Given the description of an element on the screen output the (x, y) to click on. 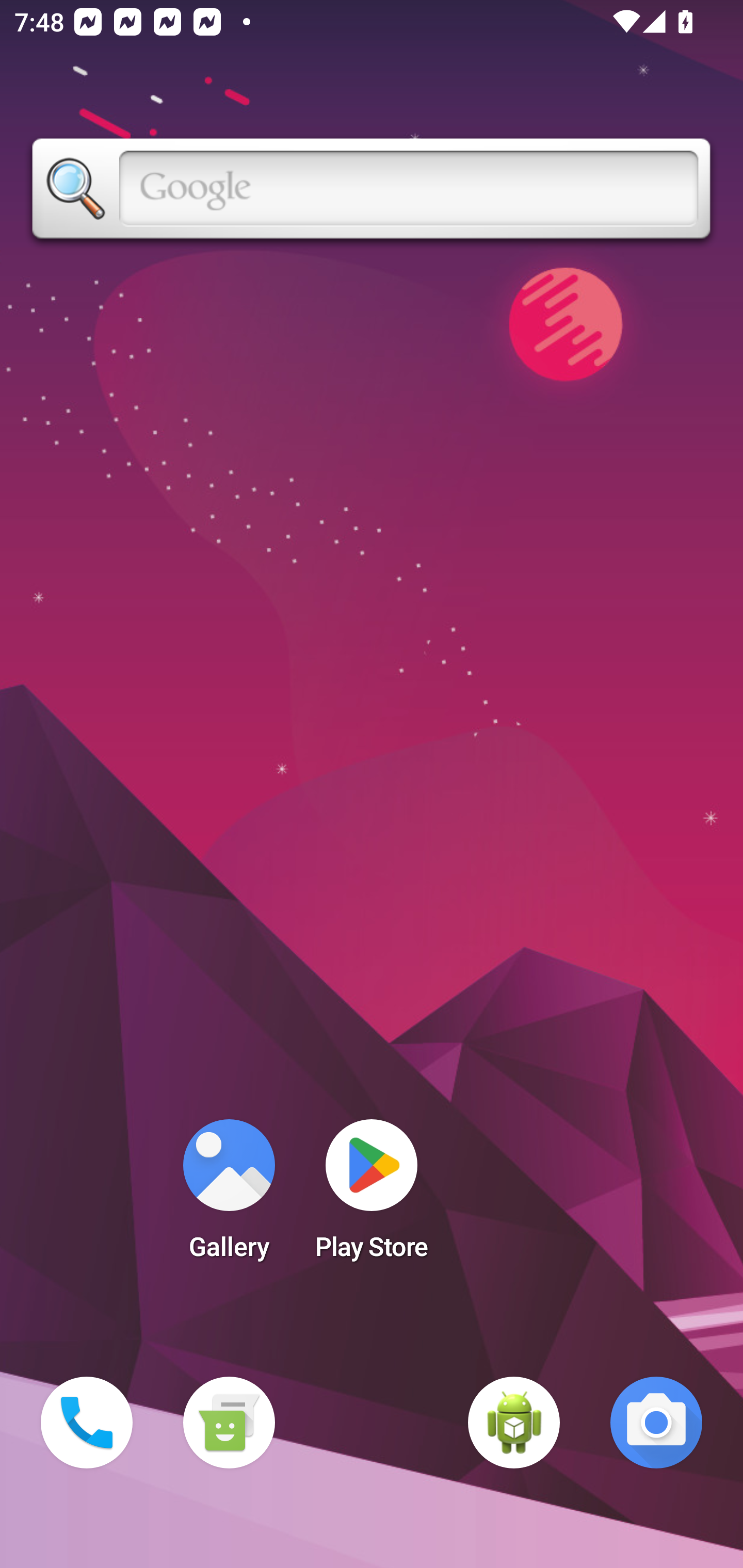
Gallery (228, 1195)
Play Store (371, 1195)
Phone (86, 1422)
Messaging (228, 1422)
WebView Browser Tester (513, 1422)
Camera (656, 1422)
